Given the description of an element on the screen output the (x, y) to click on. 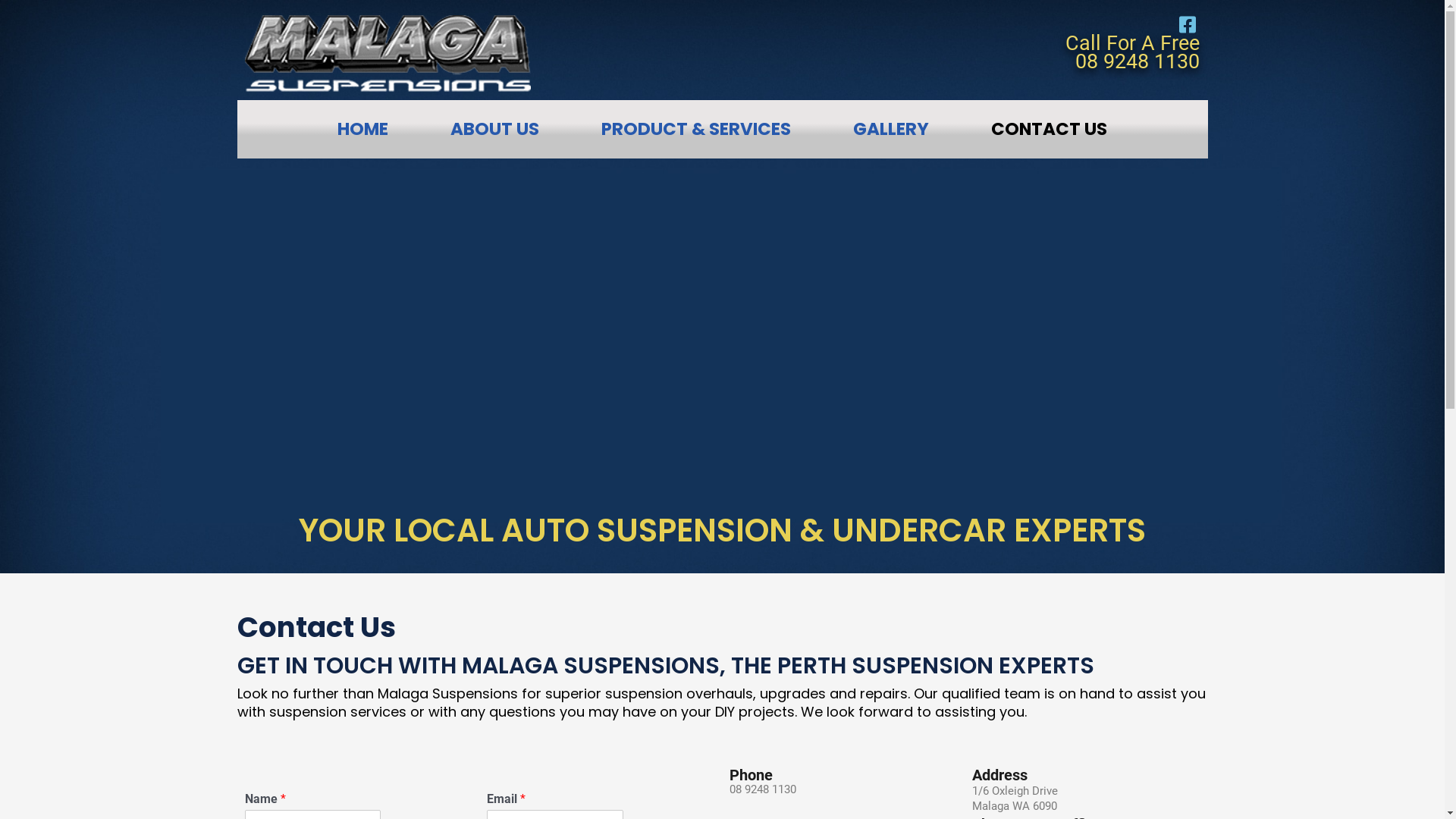
HOME Element type: text (362, 128)
GALLERY Element type: text (890, 128)
PRODUCT & SERVICES Element type: text (695, 128)
ABOUT US Element type: text (494, 128)
CONTACT US Element type: text (1049, 128)
